Given the description of an element on the screen output the (x, y) to click on. 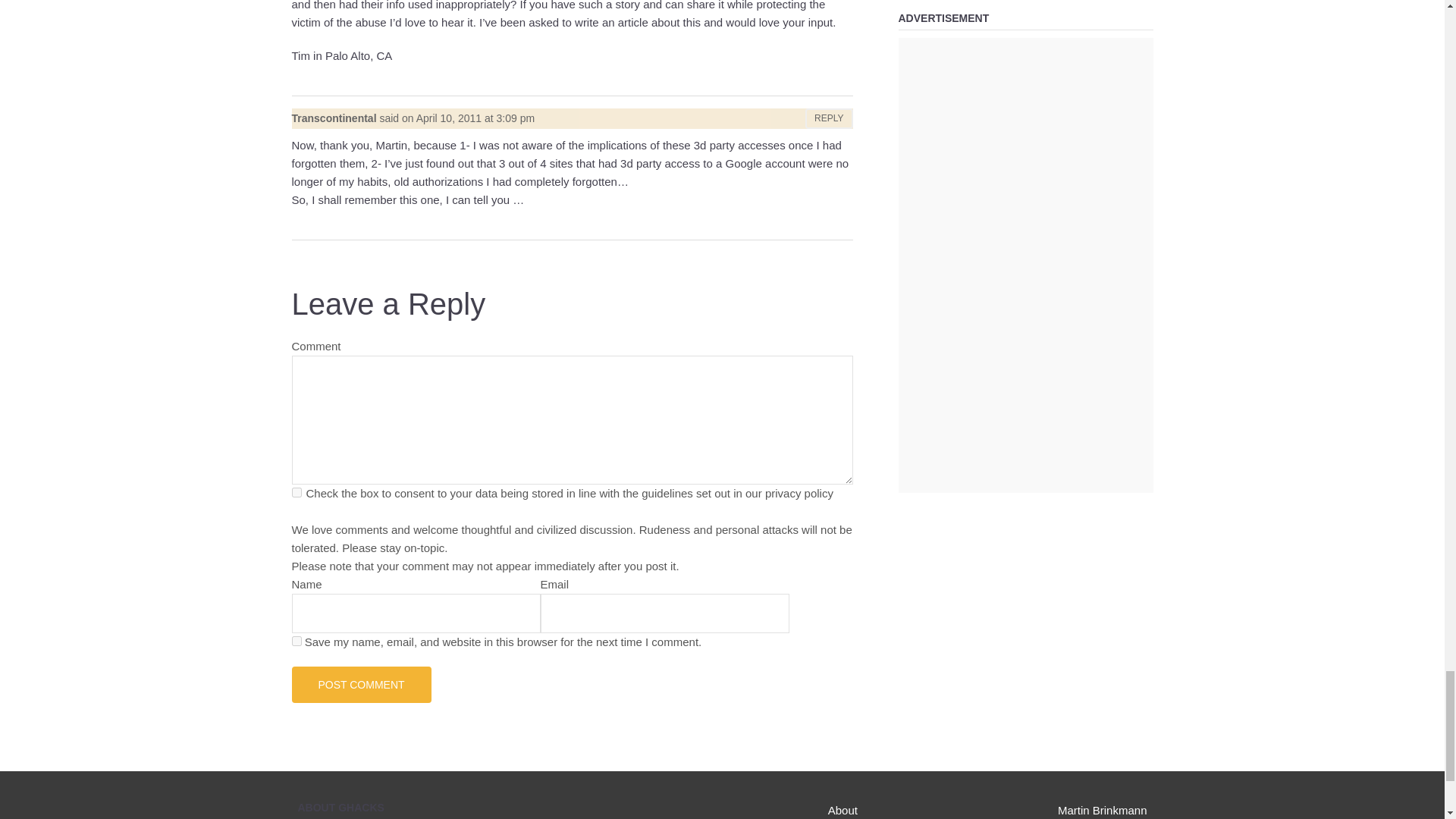
privacy-key (296, 492)
yes (296, 641)
Post Comment (360, 684)
